Given the description of an element on the screen output the (x, y) to click on. 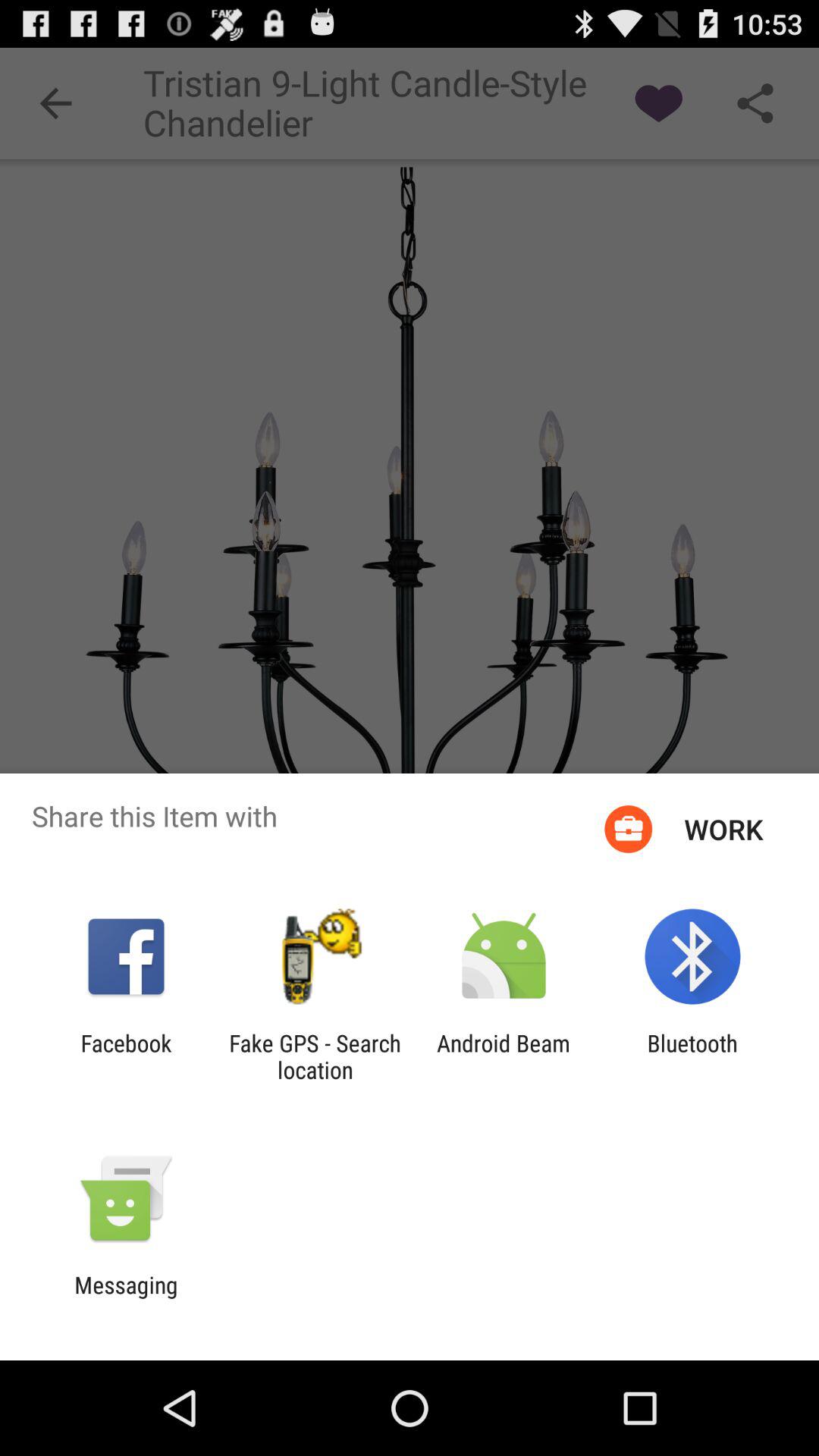
flip to the bluetooth item (692, 1056)
